Given the description of an element on the screen output the (x, y) to click on. 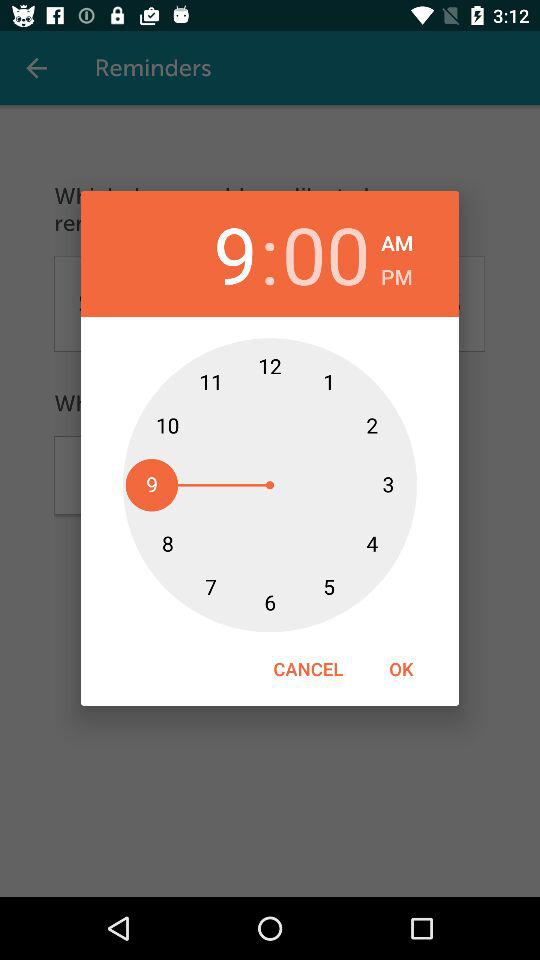
swipe until the ok (401, 668)
